Given the description of an element on the screen output the (x, y) to click on. 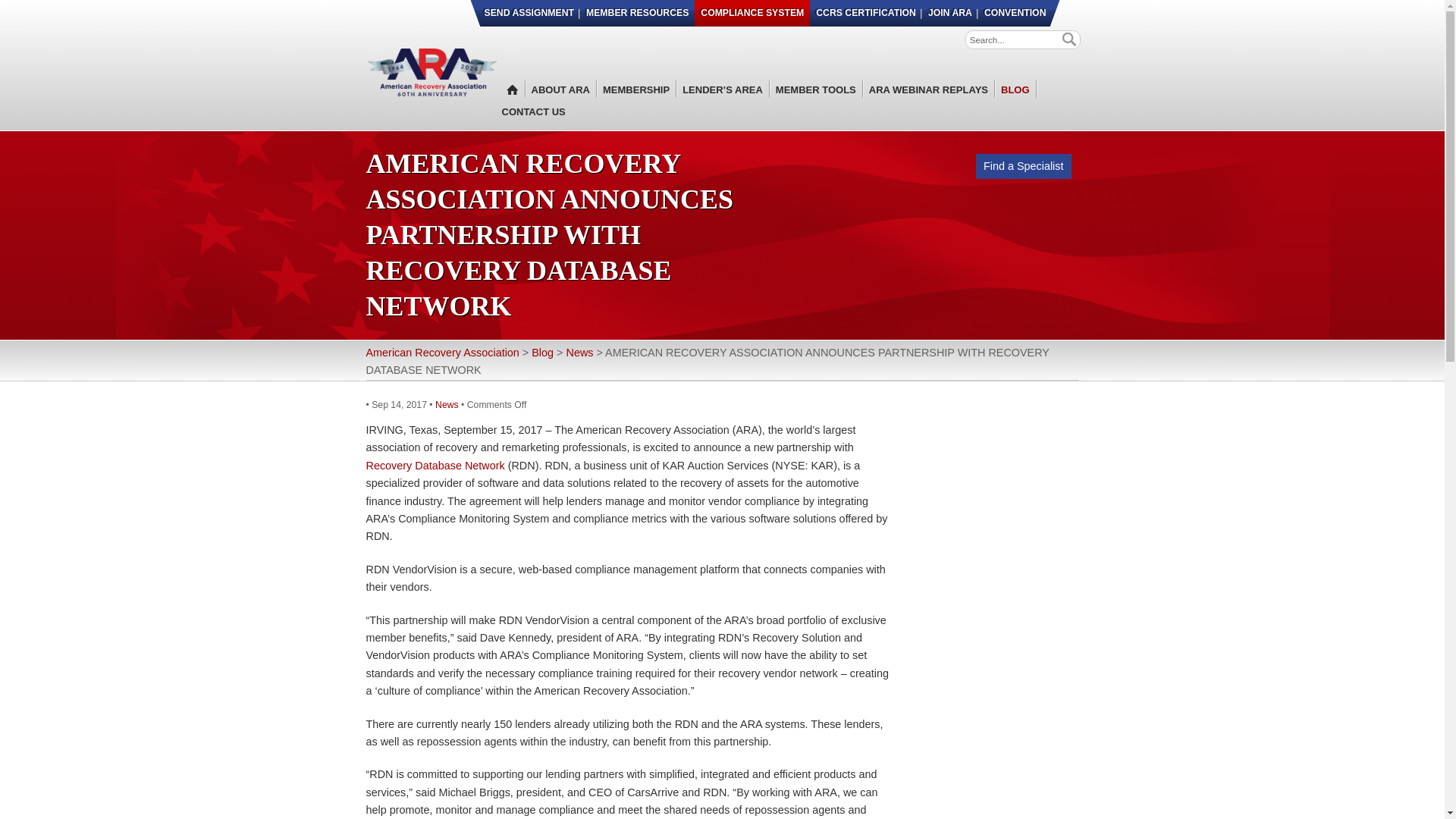
MEMBER TOOLS (816, 89)
Member Resources (636, 13)
Go! (1065, 39)
JOIN ARA (949, 13)
Go to American Recovery Association. (441, 352)
HOME (510, 89)
Go! (1065, 39)
CCRS Certification (865, 13)
CONVENTION (1013, 13)
Go to Blog. (542, 352)
MEMBERSHIP (635, 89)
ARA Convention (1013, 13)
Search... (1015, 39)
CCRS CERTIFICATION (865, 13)
ABOUT ARA (559, 89)
